Given the description of an element on the screen output the (x, y) to click on. 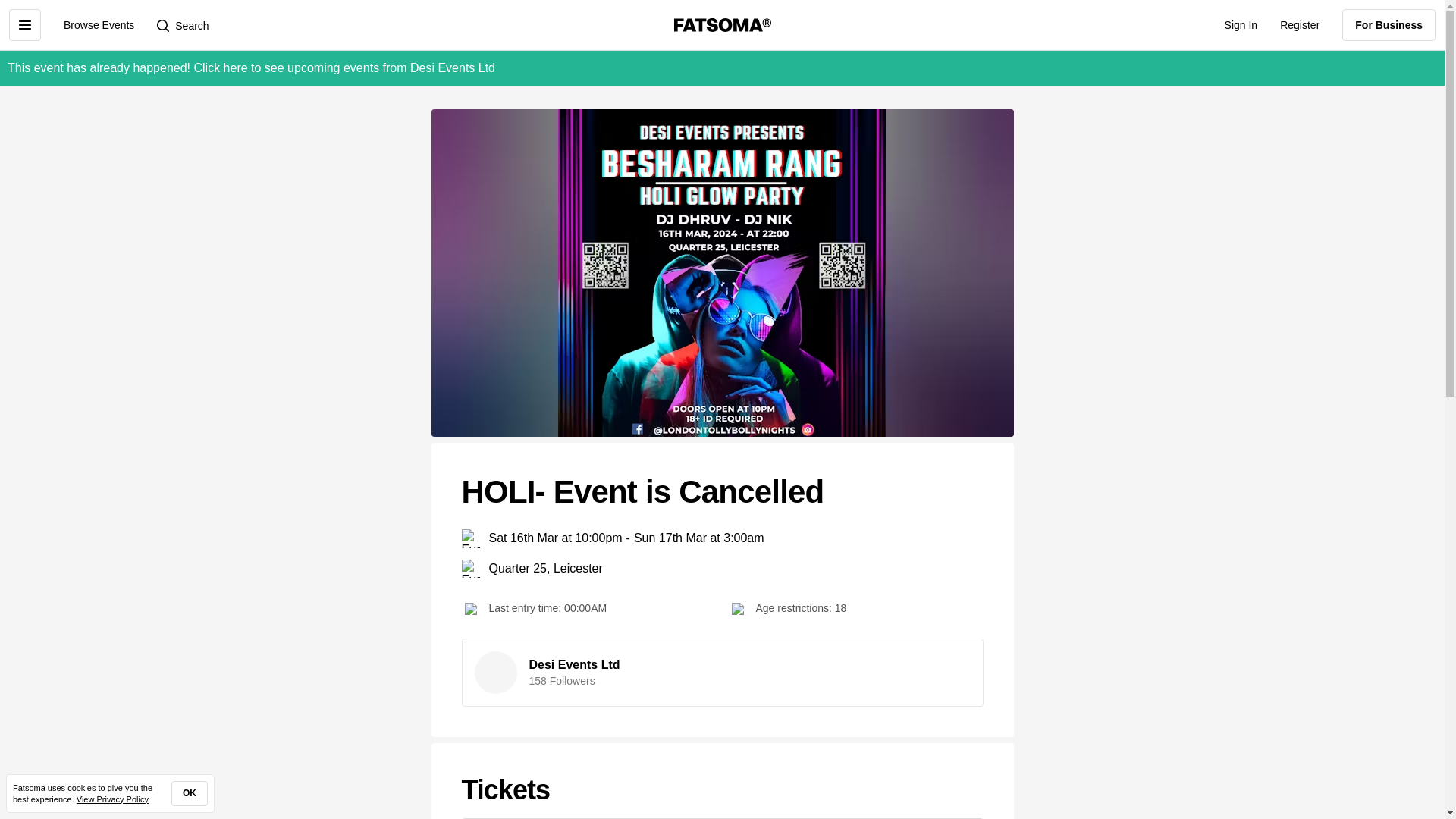
Browse Events (98, 24)
Desi Events Ltd (574, 664)
Register (1299, 24)
Sign In (1240, 24)
OK (189, 793)
For Business (1388, 24)
Search (182, 24)
View Privacy Policy (112, 798)
